Given the description of an element on the screen output the (x, y) to click on. 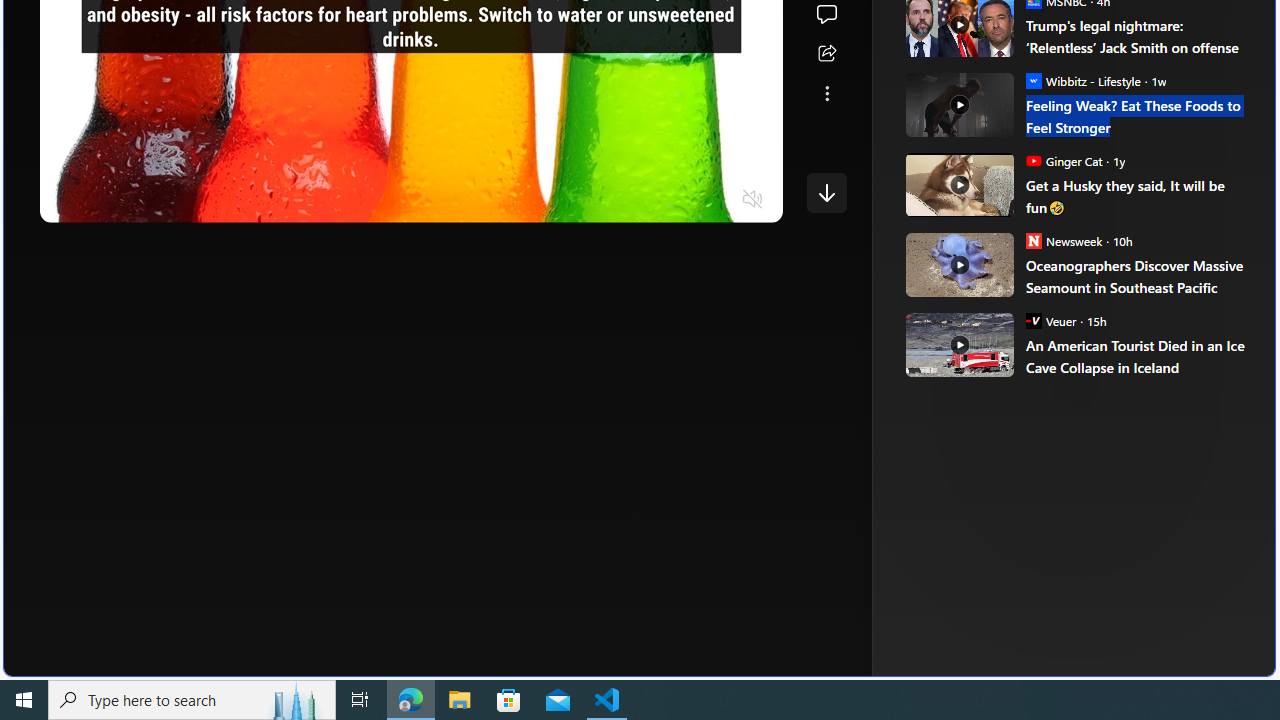
Ginger Cat Ginger Cat (1064, 160)
Captions (675, 200)
Ginger Cat (1033, 160)
Pause (69, 200)
Seek Back (109, 200)
An American Tourist Died in an Ice Cave Collapse in Iceland (958, 344)
An American Tourist Died in an Ice Cave Collapse in Iceland (1136, 356)
